Given the description of an element on the screen output the (x, y) to click on. 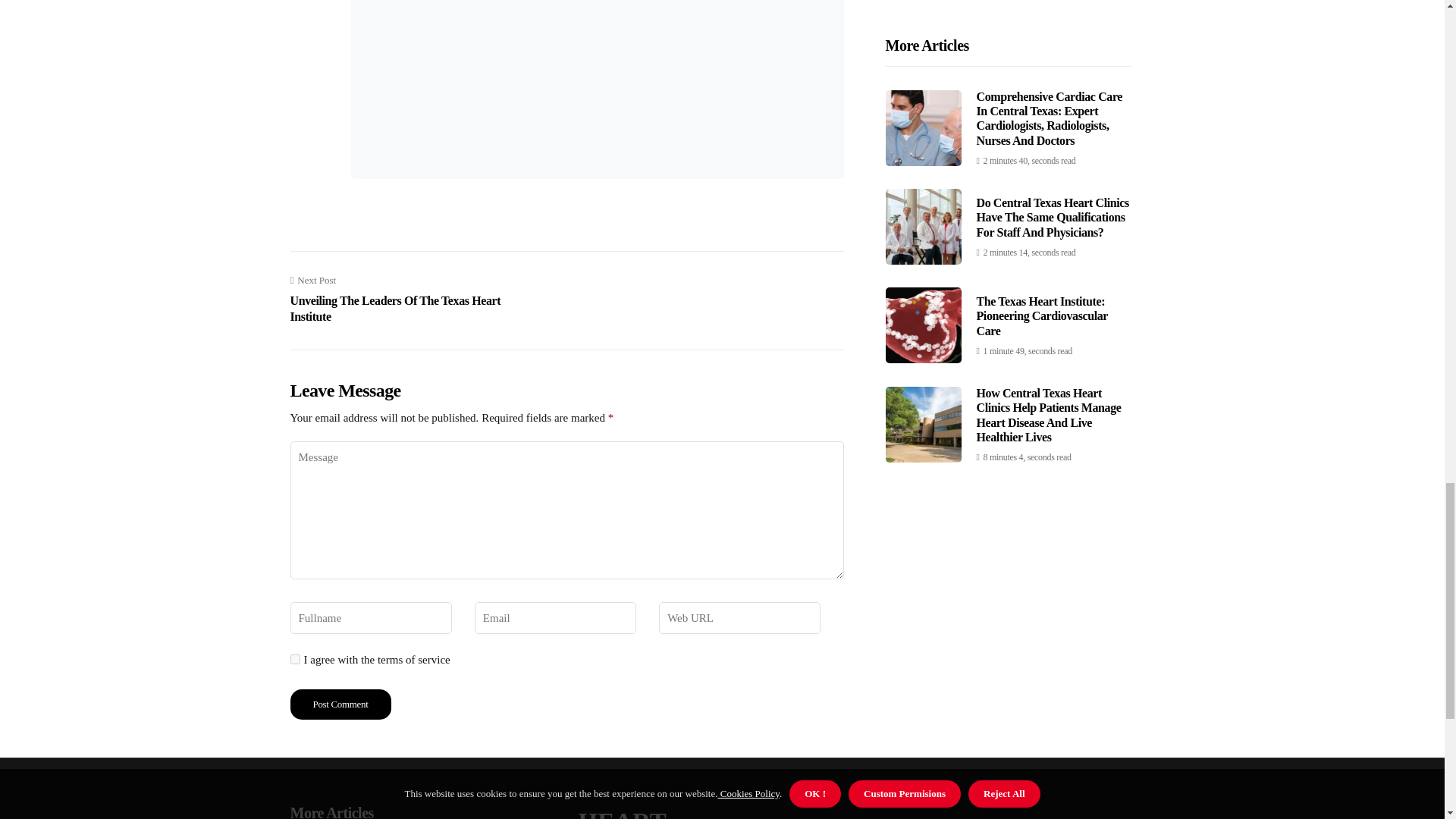
Post Comment (339, 704)
yes (400, 299)
Post Comment (294, 659)
